Given the description of an element on the screen output the (x, y) to click on. 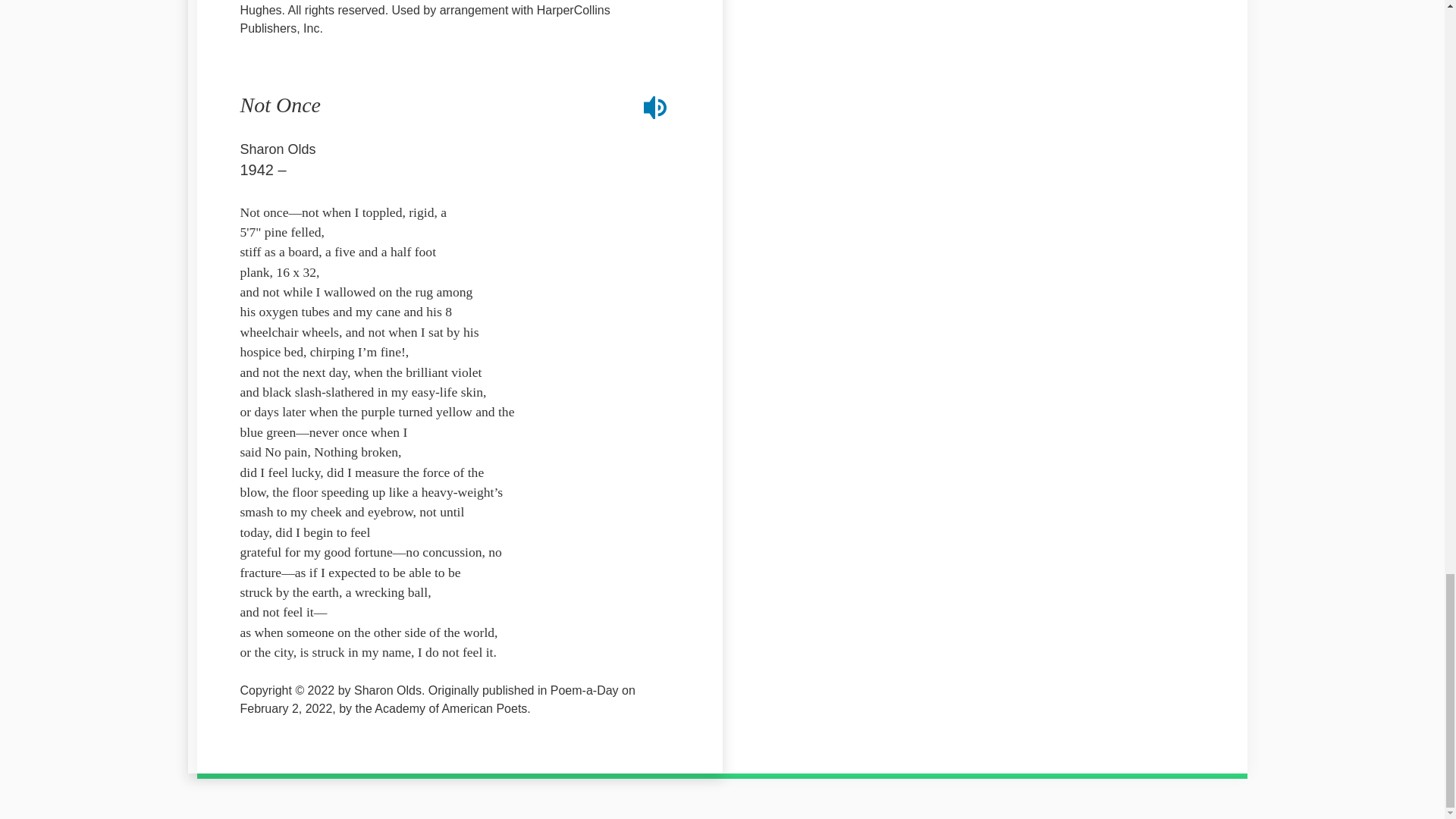
Not Once (280, 105)
Sharon Olds (277, 148)
Load audio player (654, 107)
